Given the description of an element on the screen output the (x, y) to click on. 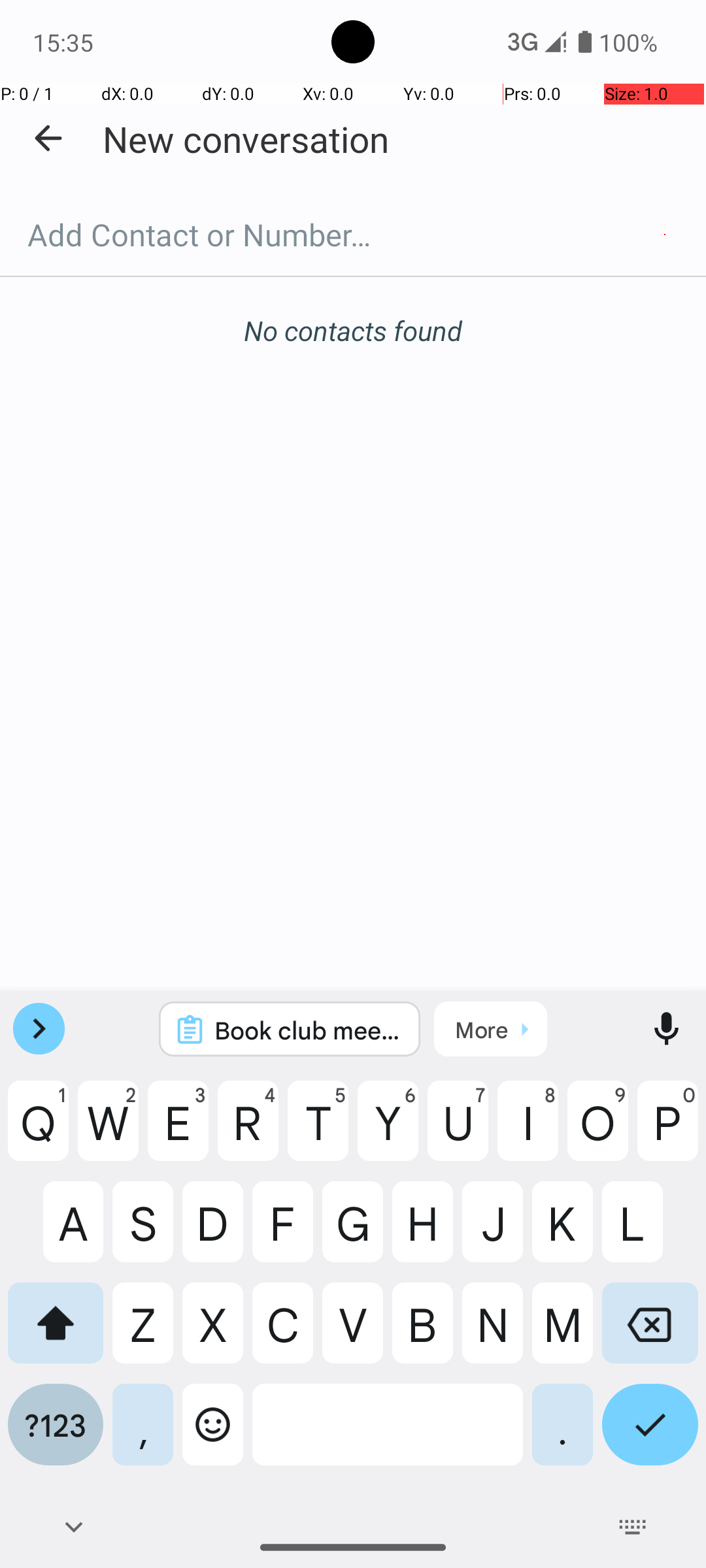
New conversation Element type: android.widget.TextView (245, 138)
Add Contact or Number… Element type: android.widget.EditText (352, 234)
No contacts found Element type: android.widget.TextView (353, 329)
Book club meets next Tuesday to discuss '1984'. Element type: android.widget.TextView (306, 1029)
